Given the description of an element on the screen output the (x, y) to click on. 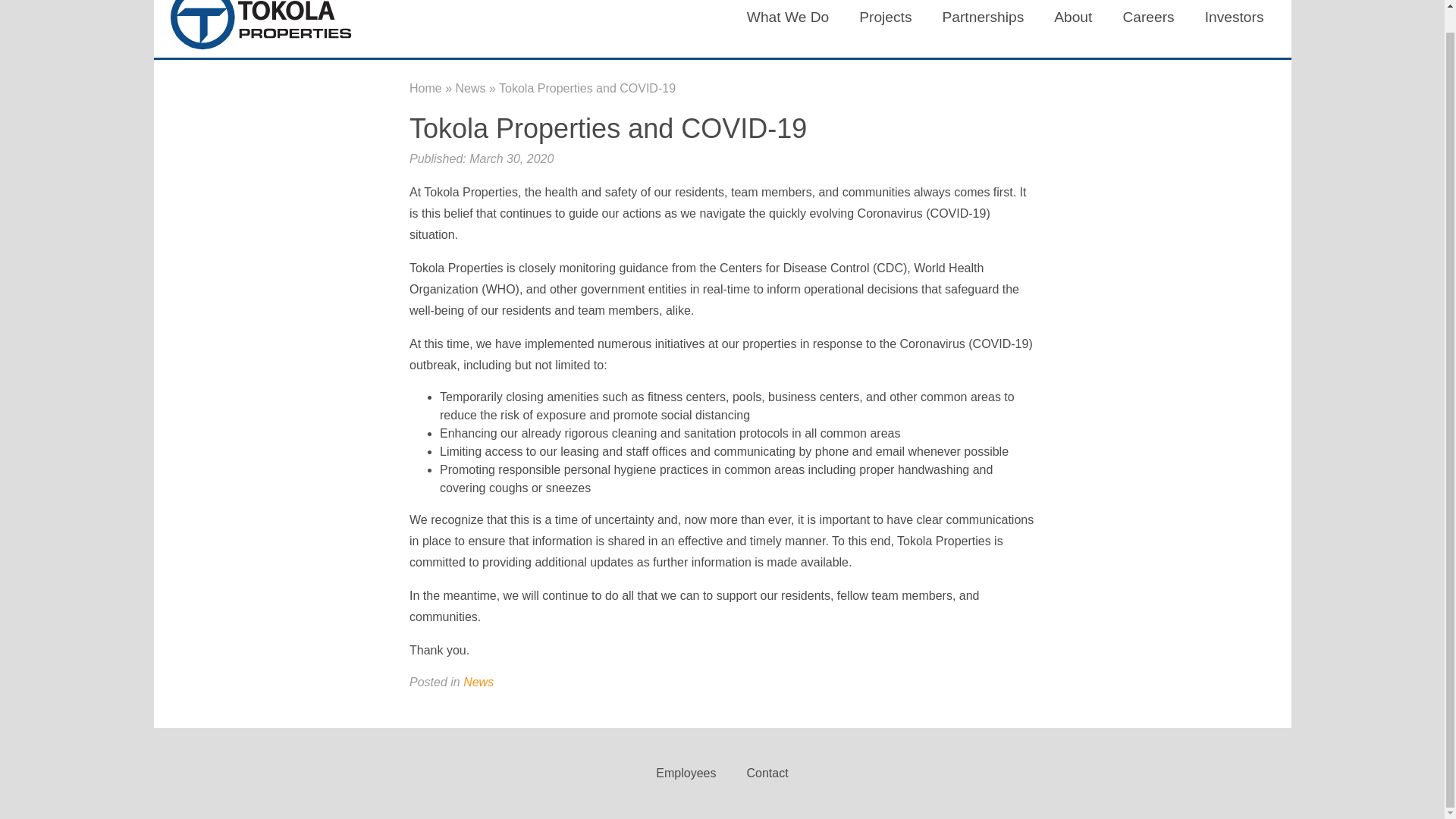
Home (425, 88)
Employees (685, 772)
What We Do (788, 17)
Partnerships (983, 17)
Tokola Properties (260, 28)
News (469, 88)
March 30, 2020 (510, 158)
About (1072, 17)
Projects (885, 17)
Partnerships (983, 17)
